Given the description of an element on the screen output the (x, y) to click on. 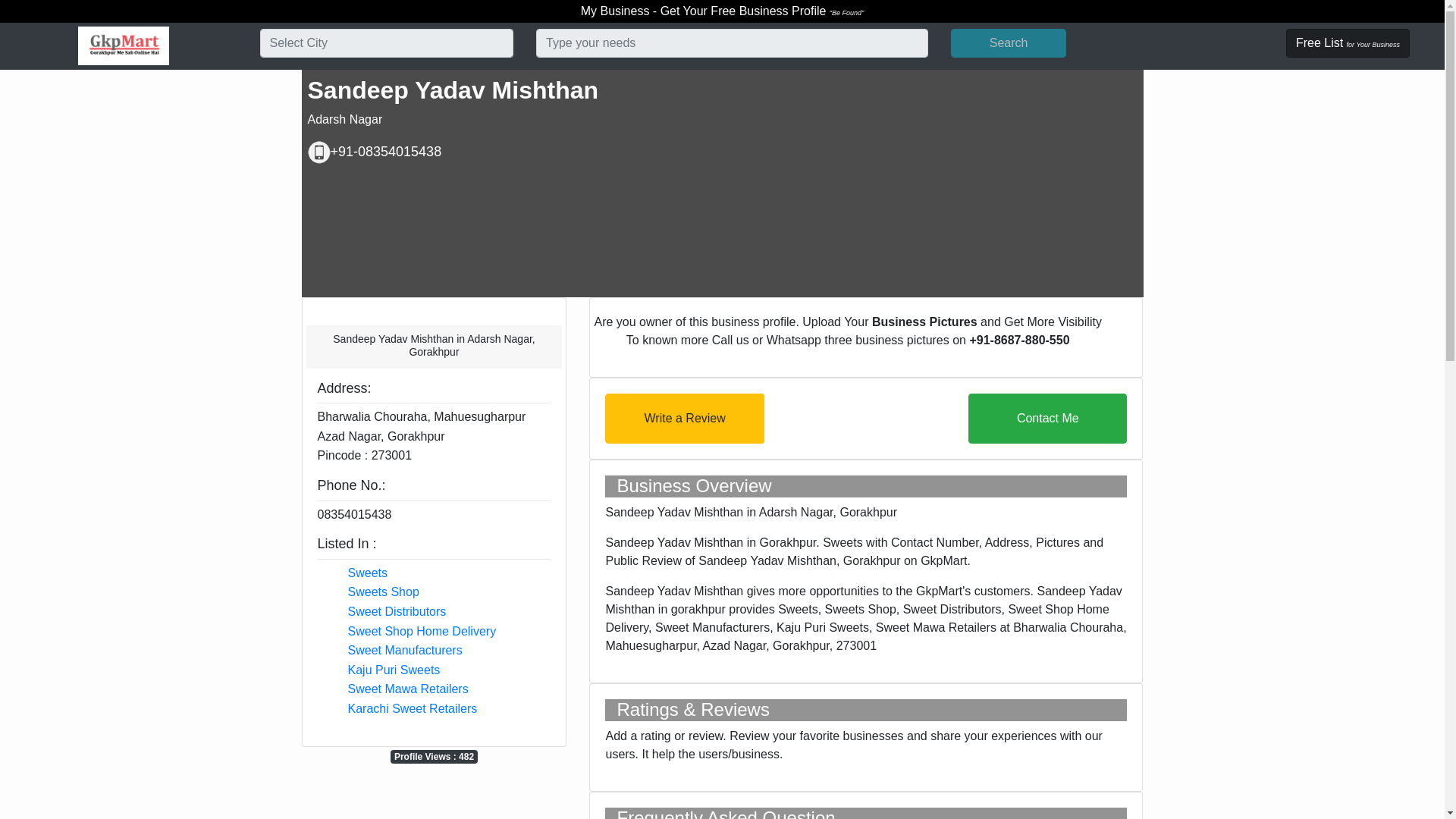
Search (1007, 42)
Contact Me (1047, 418)
Karachi Sweet Retailers (412, 707)
Free List for Your Business (1347, 42)
Sweet Manufacturers (404, 649)
Sweets Shop (383, 591)
My Business - Get Your Free Business Profile "Be Found" (722, 10)
Sweet Mawa Retailers (407, 688)
Sweet Shop Home Delivery (421, 631)
Kaju Puri Sweets (393, 669)
Search (1007, 42)
Sweets (367, 572)
Write a Review (683, 418)
Sweet Distributors (396, 611)
